Given the description of an element on the screen output the (x, y) to click on. 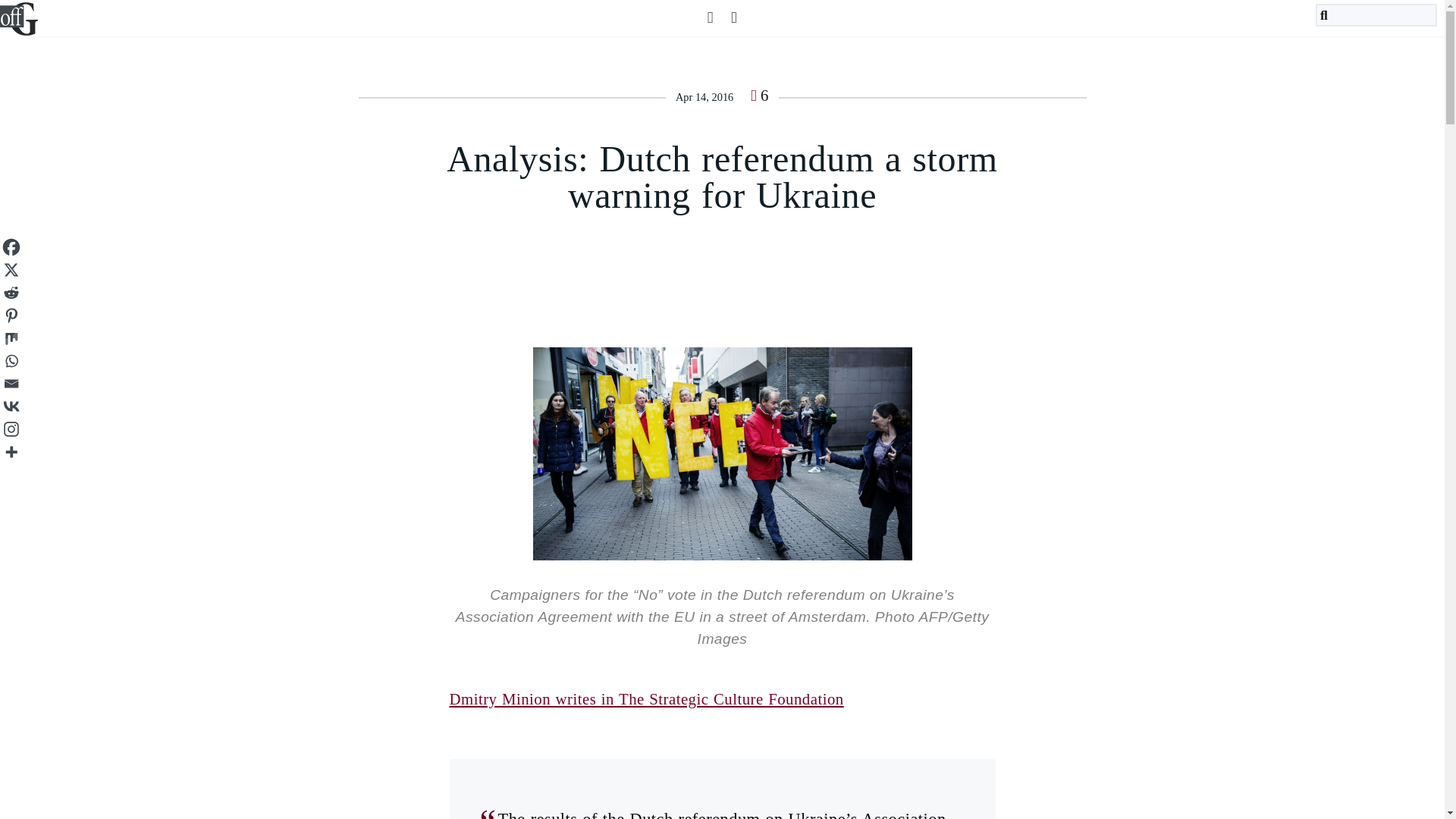
Email (11, 383)
Mix (11, 337)
Search (58, 9)
Vkontakte (11, 405)
Instagram (11, 428)
Reddit (11, 292)
Dmitry Minion writes in The Strategic Culture Foundation (645, 698)
6 (759, 95)
More (11, 451)
Facebook (11, 246)
X (11, 269)
Pinterest (11, 314)
Whatsapp (11, 360)
